Given the description of an element on the screen output the (x, y) to click on. 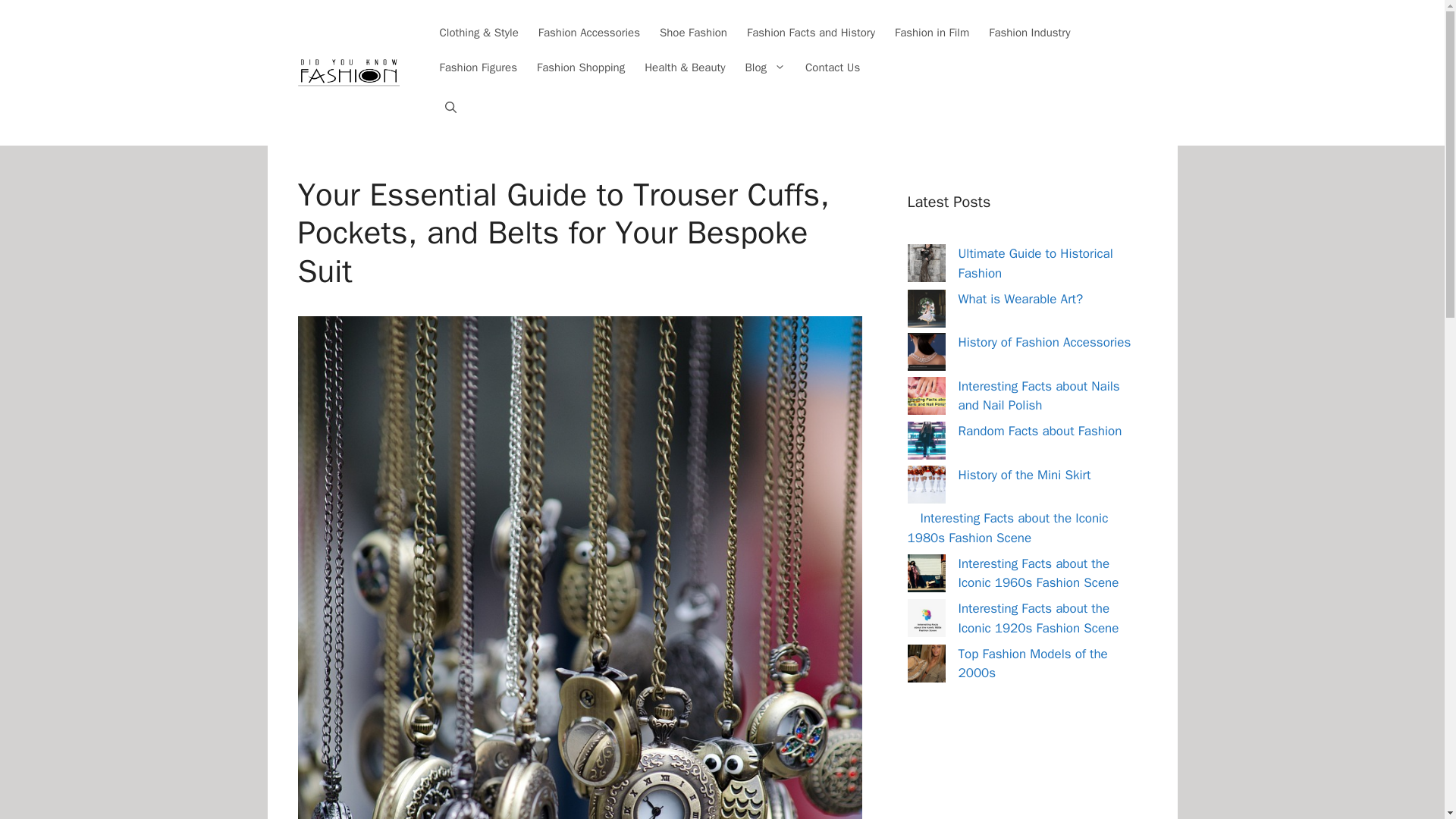
Blog (765, 67)
Ultimate Guide to Historical Fashion (1035, 263)
Shoe Fashion (693, 32)
History of Fashion Accessories (1044, 342)
Fashion Figures (478, 67)
Fashion Facts and History (810, 32)
Fashion in Film (931, 32)
What is Wearable Art? (1020, 299)
Interesting Facts about Nails and Nail Polish (1038, 395)
Contact Us (832, 67)
Fashion Shopping (580, 67)
Fashion Industry (1029, 32)
Interesting Facts about the Iconic 1980s Fashion Scene (1007, 528)
Random Facts about Fashion (1040, 430)
Fashion Accessories (588, 32)
